Given the description of an element on the screen output the (x, y) to click on. 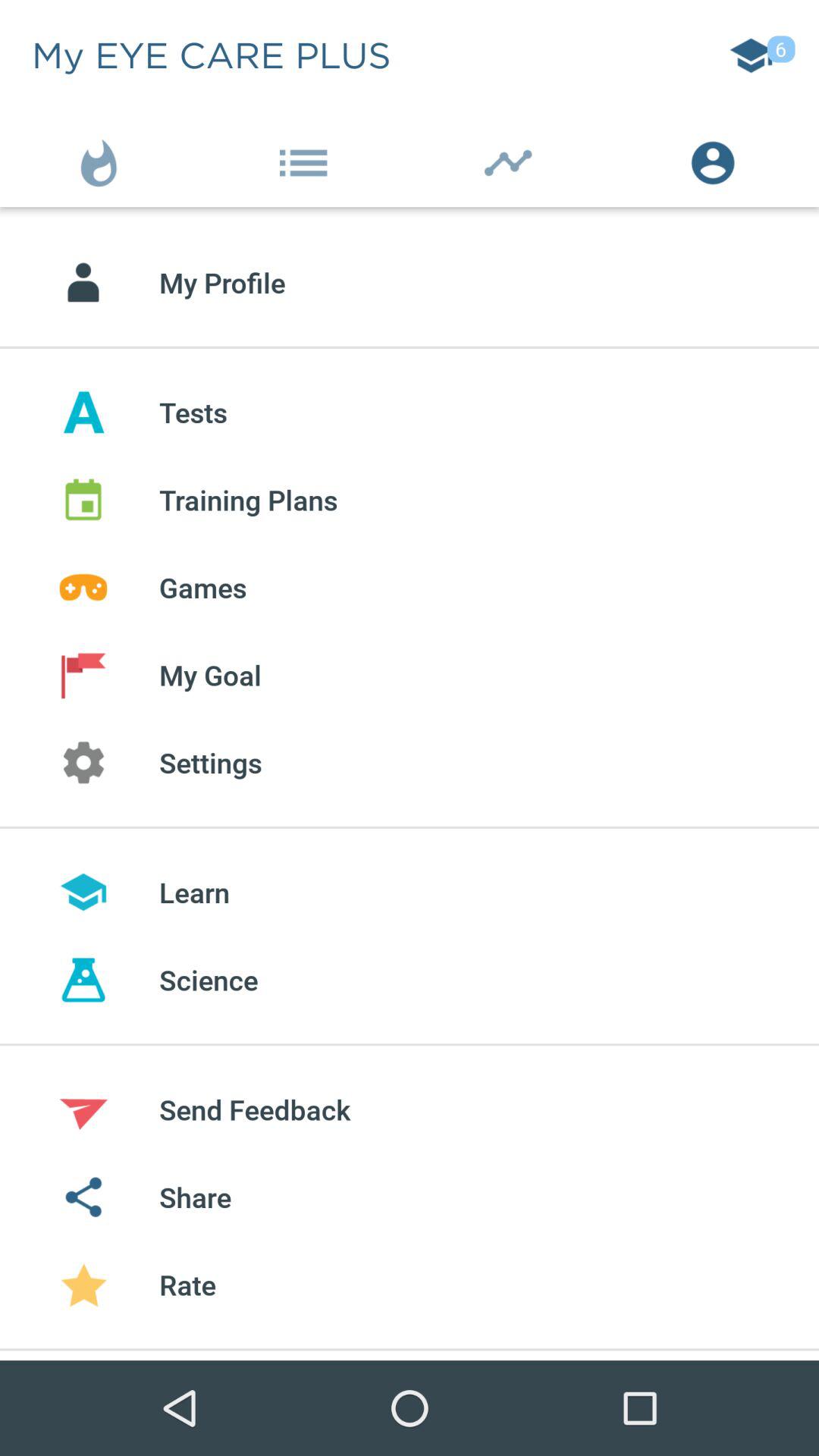
tap the (306, 159)
